Given the description of an element on the screen output the (x, y) to click on. 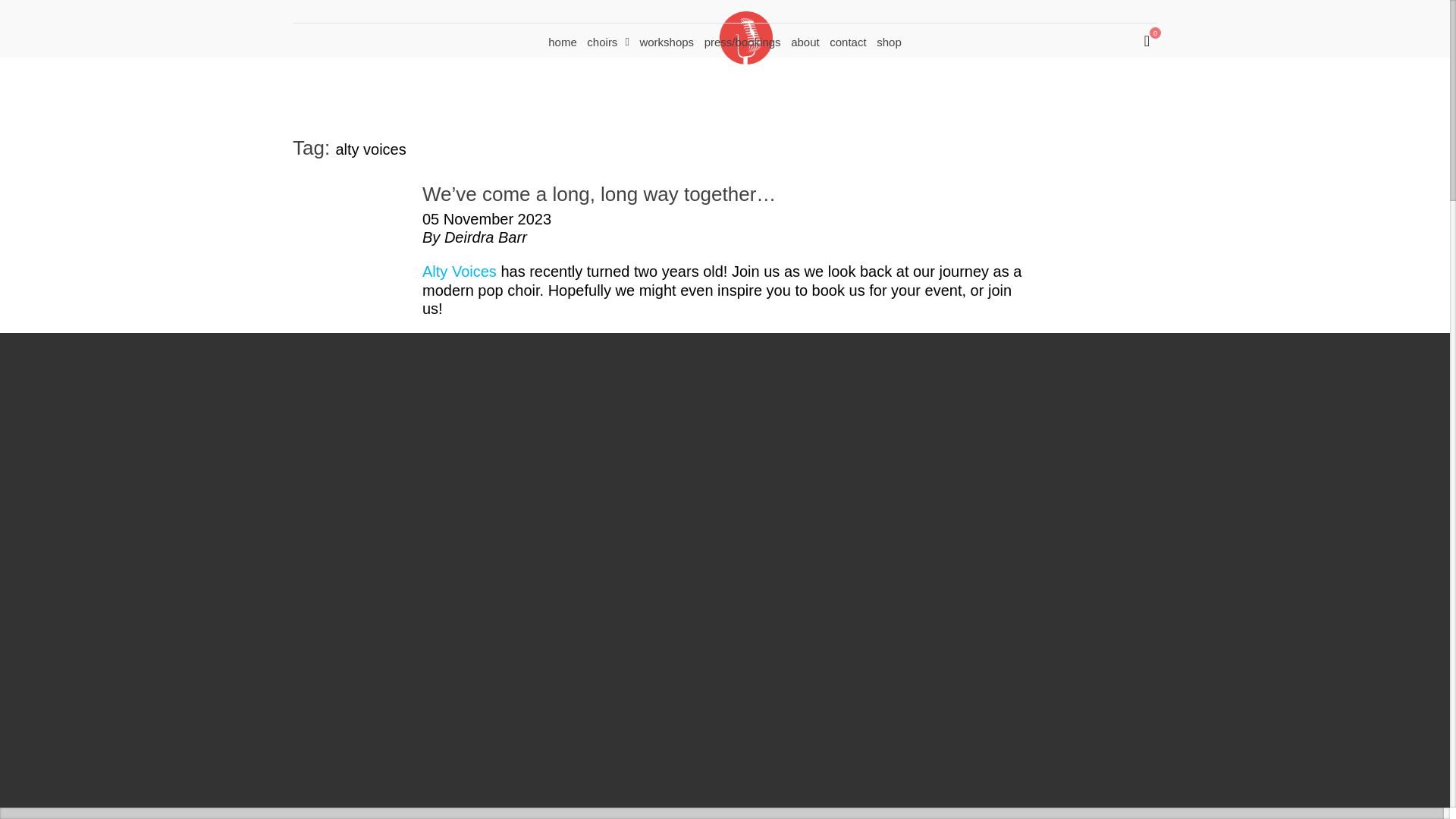
I Like Singing (776, 21)
home (561, 40)
choirs (607, 40)
workshops (666, 40)
contact (848, 40)
about (804, 40)
shop (888, 40)
Alty Voices (459, 271)
